Given the description of an element on the screen output the (x, y) to click on. 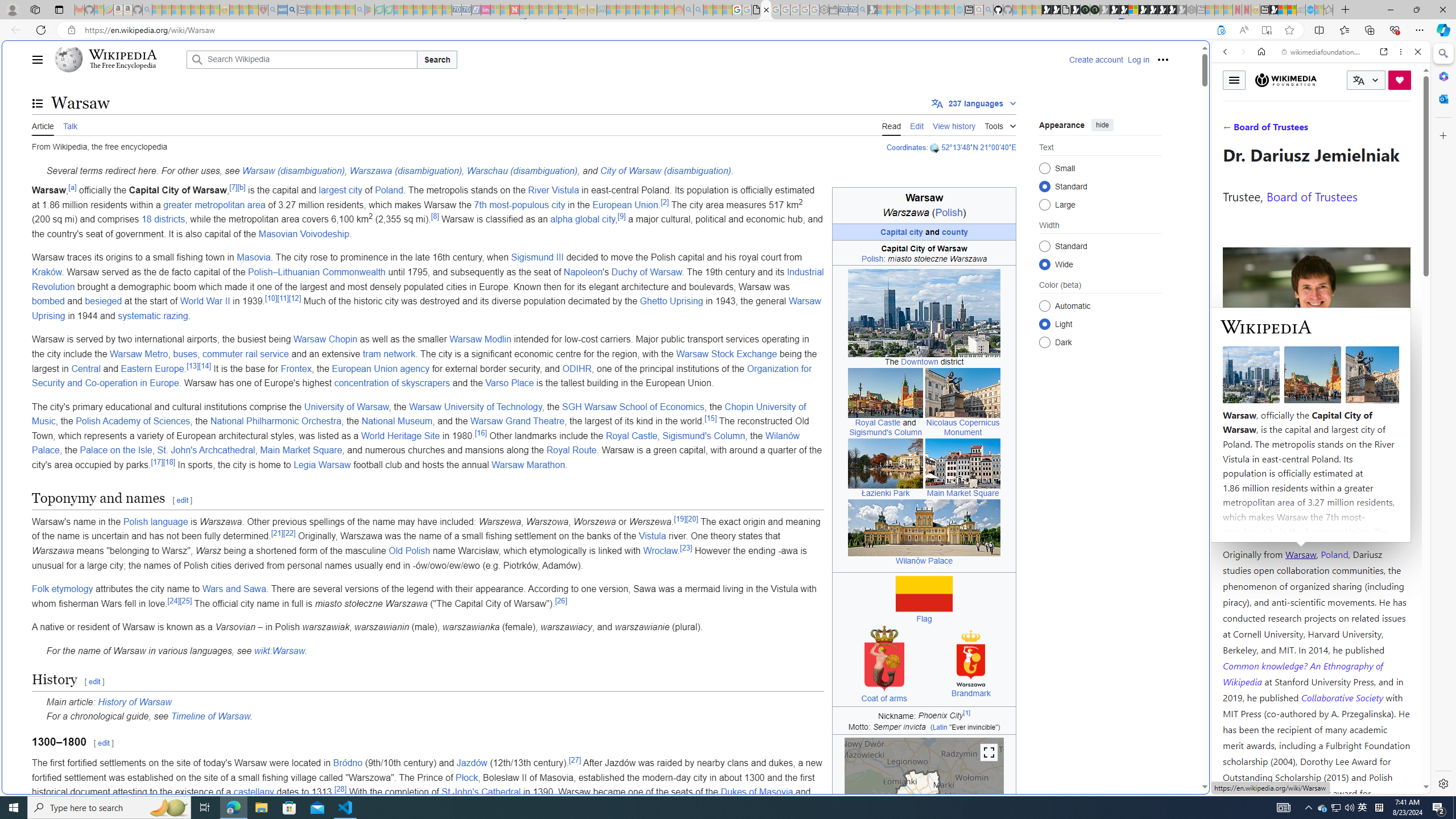
River Vistula (553, 189)
Coordinates (906, 146)
Read (890, 124)
Palace on the Isle (116, 450)
Sign in to your account (1133, 9)
Toggle the table of contents (37, 103)
[11] (282, 297)
Flag of Warsaw (924, 594)
[1] (966, 712)
